Given the description of an element on the screen output the (x, y) to click on. 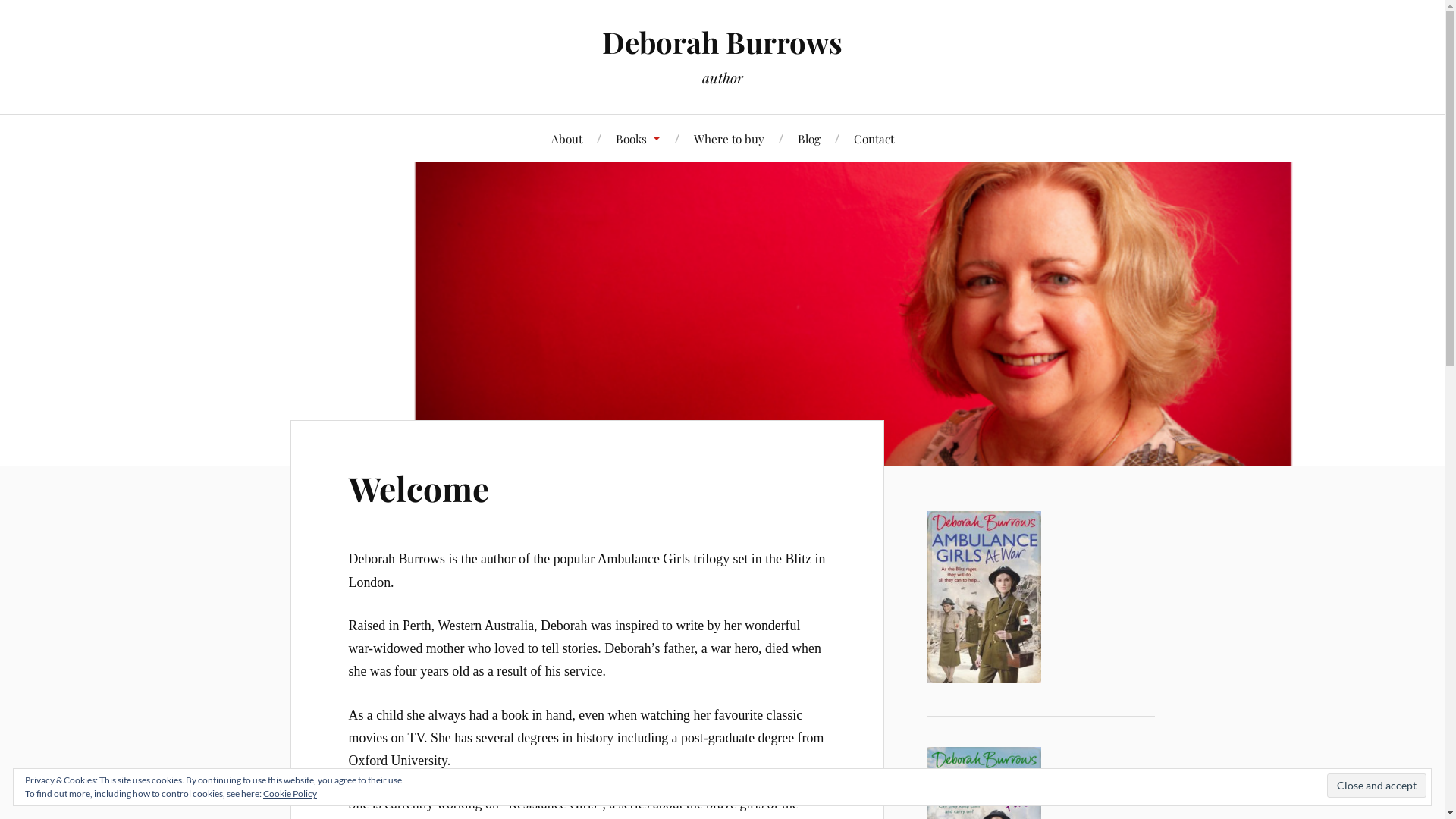
Deborah Burrows Element type: text (722, 41)
Blog Element type: text (808, 137)
Contact Element type: text (873, 137)
Close and accept Element type: text (1376, 785)
Welcome Element type: text (418, 487)
Cookie Policy Element type: text (289, 793)
About Element type: text (565, 137)
Books Element type: text (637, 137)
Where to buy Element type: text (728, 137)
